Given the description of an element on the screen output the (x, y) to click on. 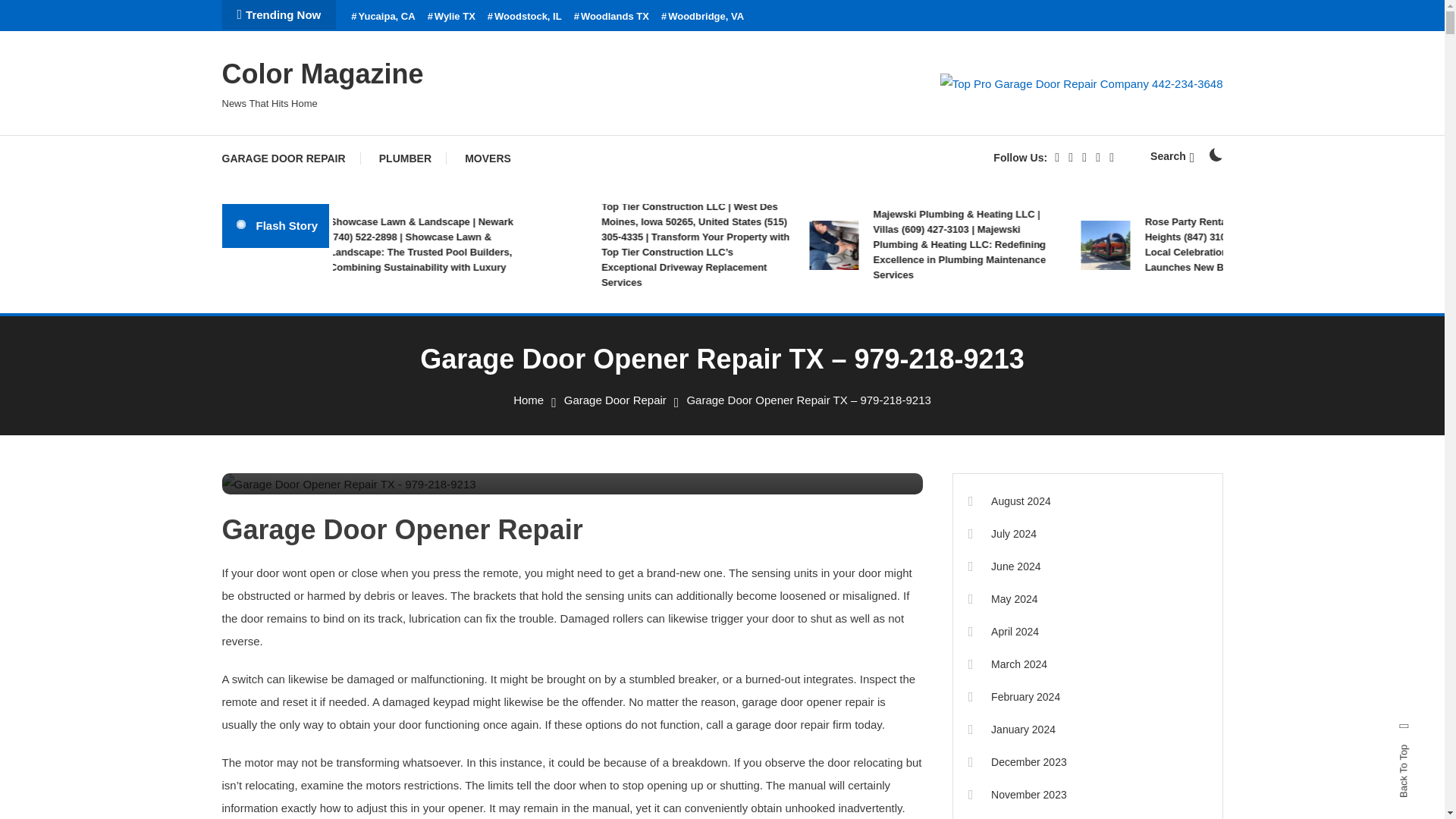
Color Magazine (322, 73)
Garage Door Repair (615, 399)
Woodbridge, VA (702, 16)
Search (1171, 155)
on (1215, 154)
GARAGE DOOR REPAIR (290, 157)
MOVERS (487, 157)
PLUMBER (405, 157)
Yucaipa, CA (382, 16)
Wylie TX (452, 16)
